Given the description of an element on the screen output the (x, y) to click on. 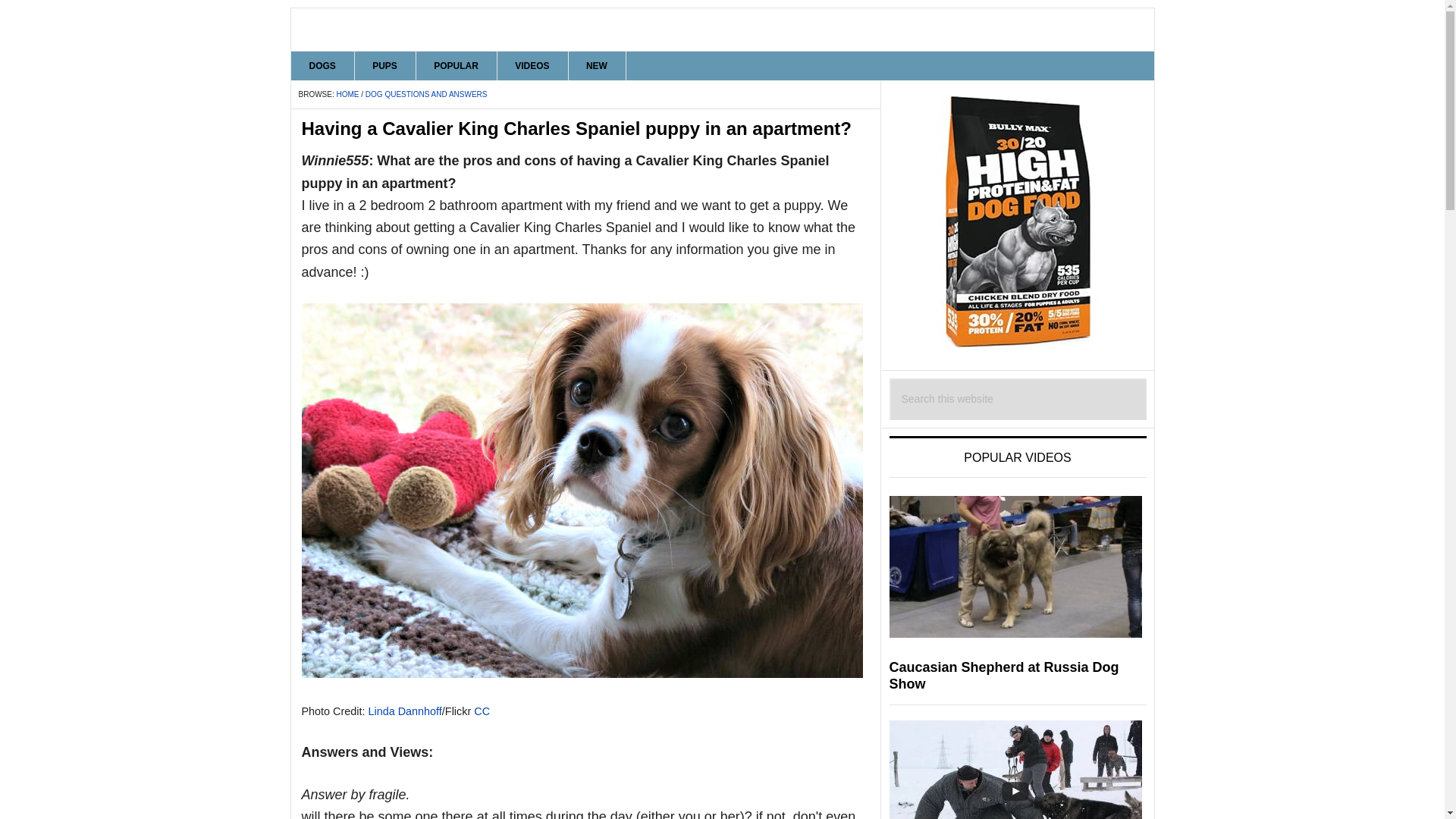
DOGS (323, 65)
BUY IT ON AMAZON ! (1017, 221)
POPULAR (455, 65)
HOME (347, 94)
NEW (596, 65)
PUPS (384, 65)
RUSSIAN DOG (722, 29)
CC (481, 711)
DOG QUESTIONS AND ANSWERS (426, 94)
VIDEOS (531, 65)
Linda Dannhoff (405, 711)
Caucasian Shepherd at Russia Dog Show (1003, 675)
